Given the description of an element on the screen output the (x, y) to click on. 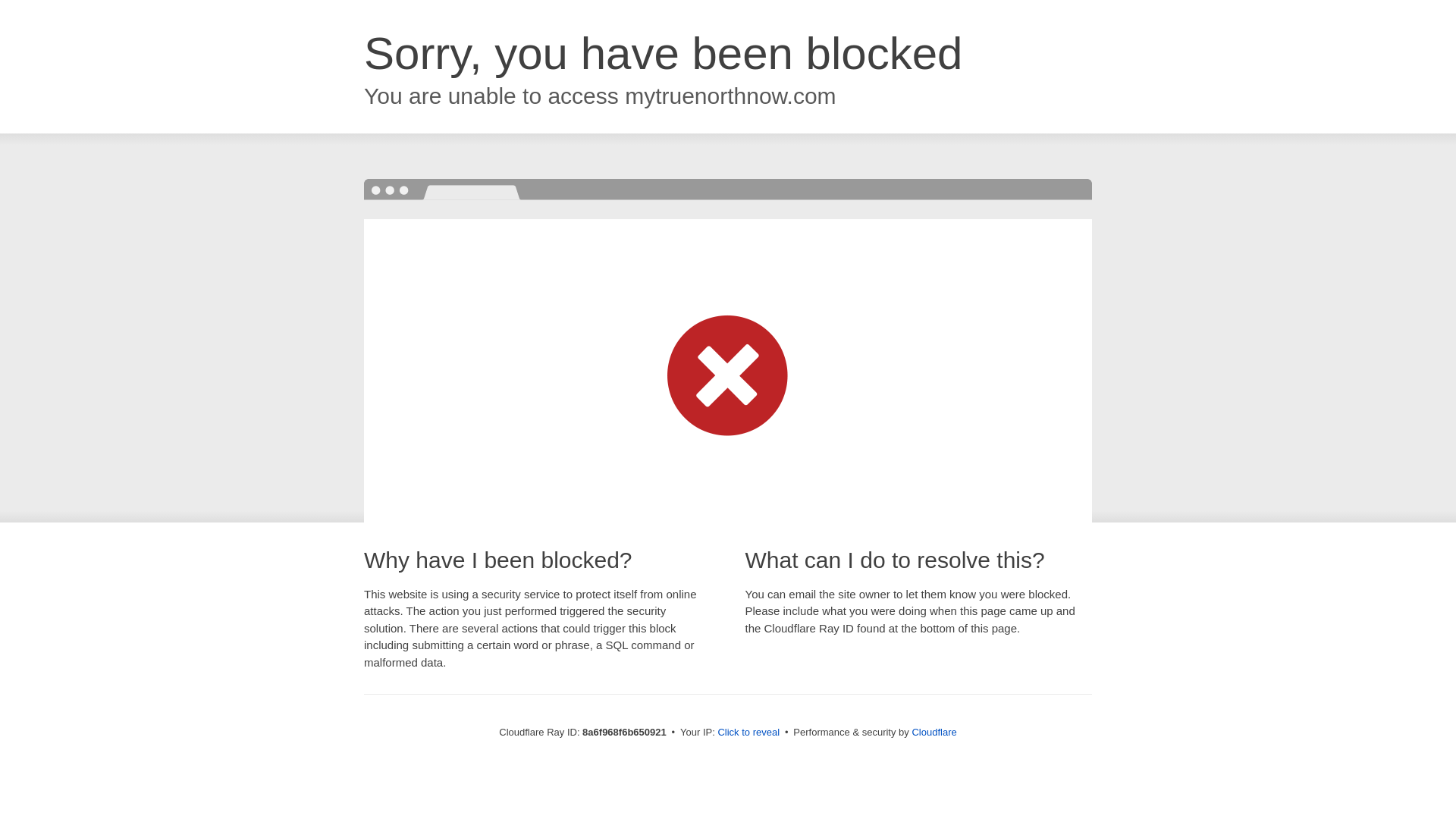
Cloudflare (933, 731)
Click to reveal (747, 732)
